Given the description of an element on the screen output the (x, y) to click on. 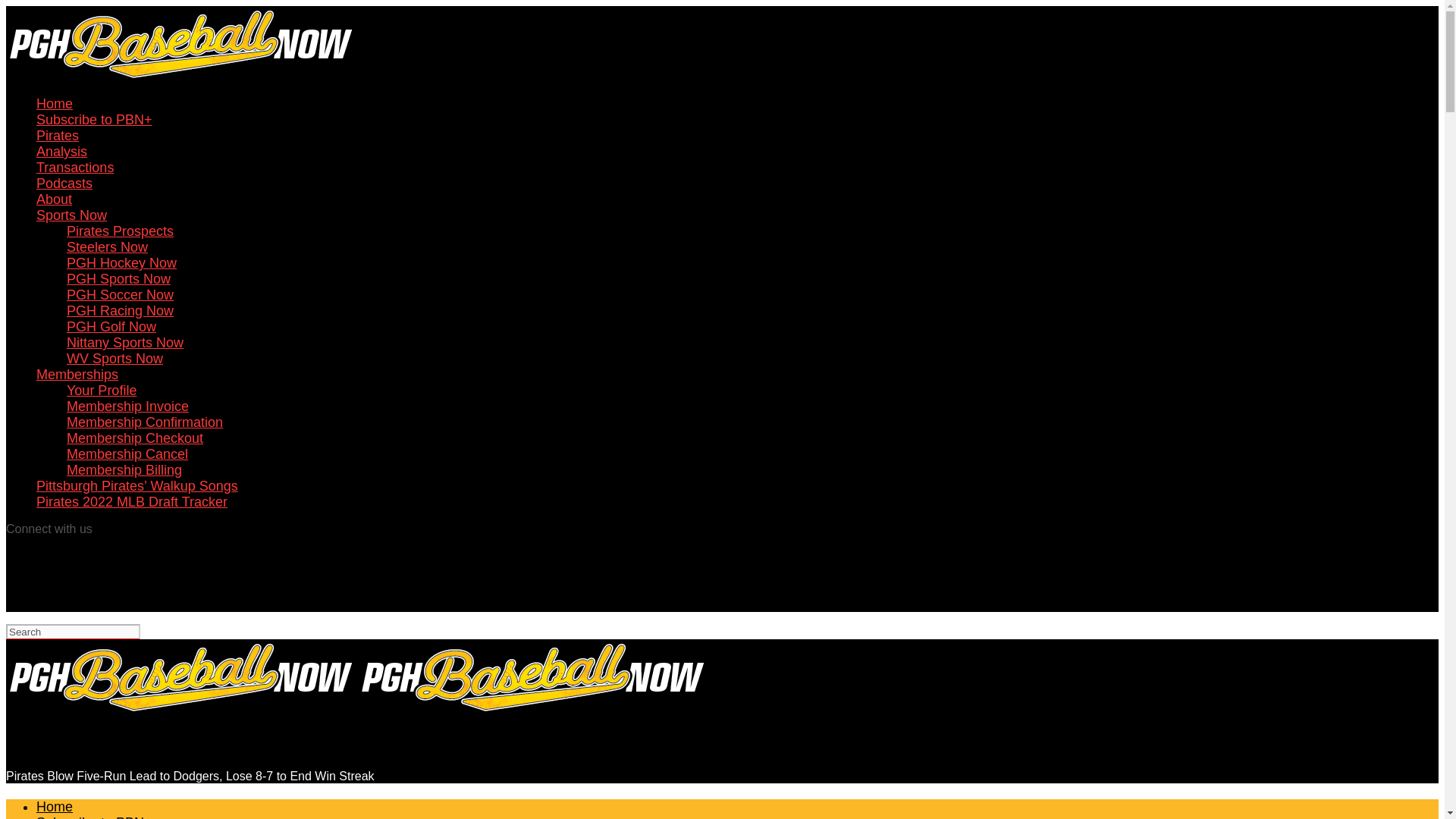
Pirates Prospects (119, 231)
Search (72, 631)
Membership Billing (124, 469)
Membership Invoice (127, 406)
About (53, 199)
Transactions (74, 167)
Pirates 2022 MLB Draft Tracker (131, 501)
WV Sports Now (114, 358)
PGH Hockey Now (121, 263)
Sports Now (71, 215)
Podcasts (64, 183)
Membership Cancel (126, 453)
Memberships (76, 374)
Nittany Sports Now (124, 342)
Your Profile (101, 390)
